Given the description of an element on the screen output the (x, y) to click on. 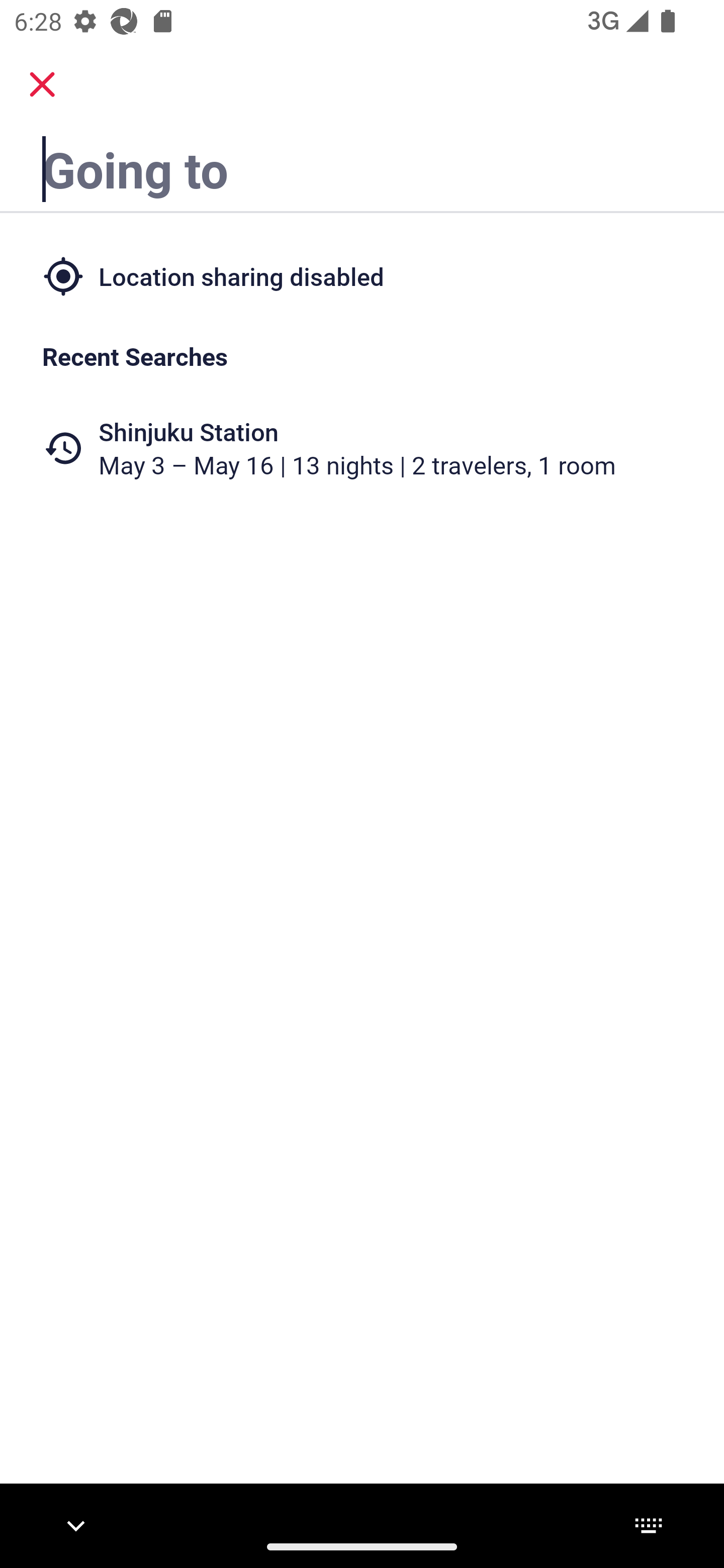
close. (42, 84)
Location sharing disabled (362, 275)
